Given the description of an element on the screen output the (x, y) to click on. 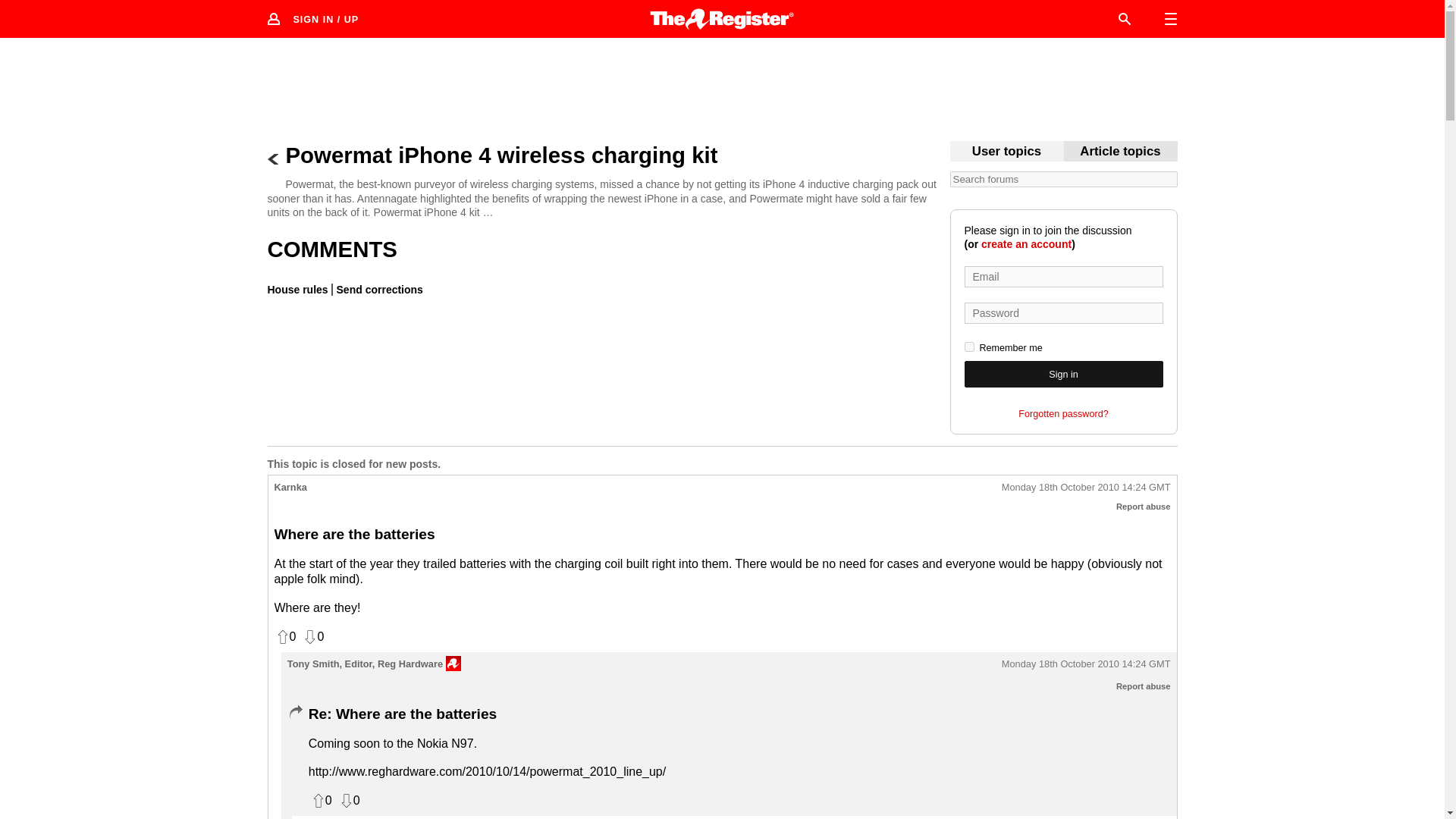
Permalink to this post (1085, 664)
Inappropriate post? Report it to our moderators (1143, 686)
Dislike this post? Vote it down! (312, 636)
Like this post? Vote for it! (320, 800)
Permalink to this post (1085, 487)
Sign in (1063, 374)
Report abuse (1143, 686)
This post was written by a Reg hack (453, 663)
Inappropriate post? Report it to our moderators (1143, 506)
Dislike this post? Vote it down! (348, 800)
